Given the description of an element on the screen output the (x, y) to click on. 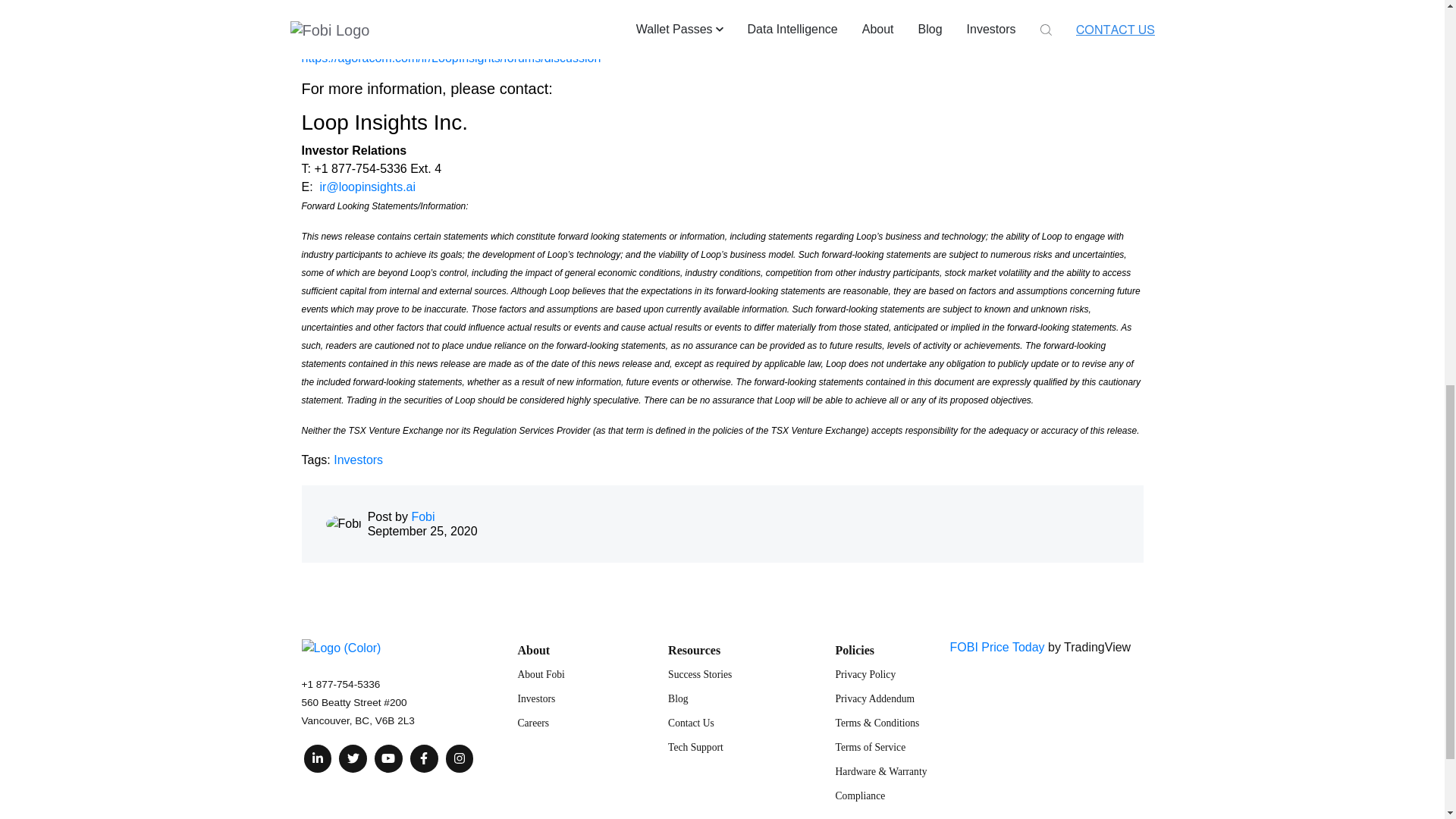
Fobi (421, 516)
About (533, 649)
Investors (357, 459)
Investors (535, 698)
Careers (532, 722)
About Fobi (540, 674)
Resources (694, 649)
